Given the description of an element on the screen output the (x, y) to click on. 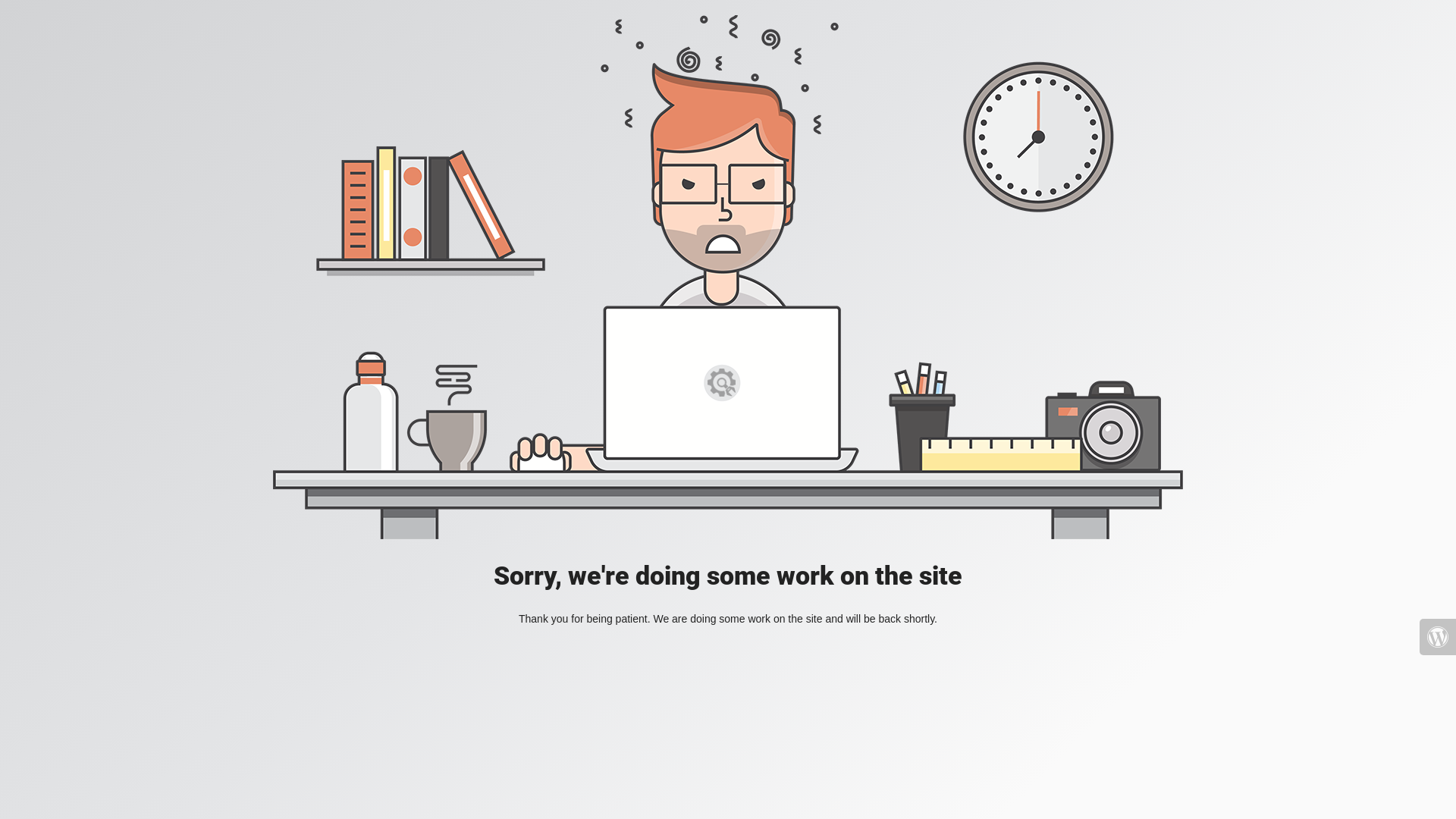
Mad Designer at work Element type: hover (728, 277)
